Given the description of an element on the screen output the (x, y) to click on. 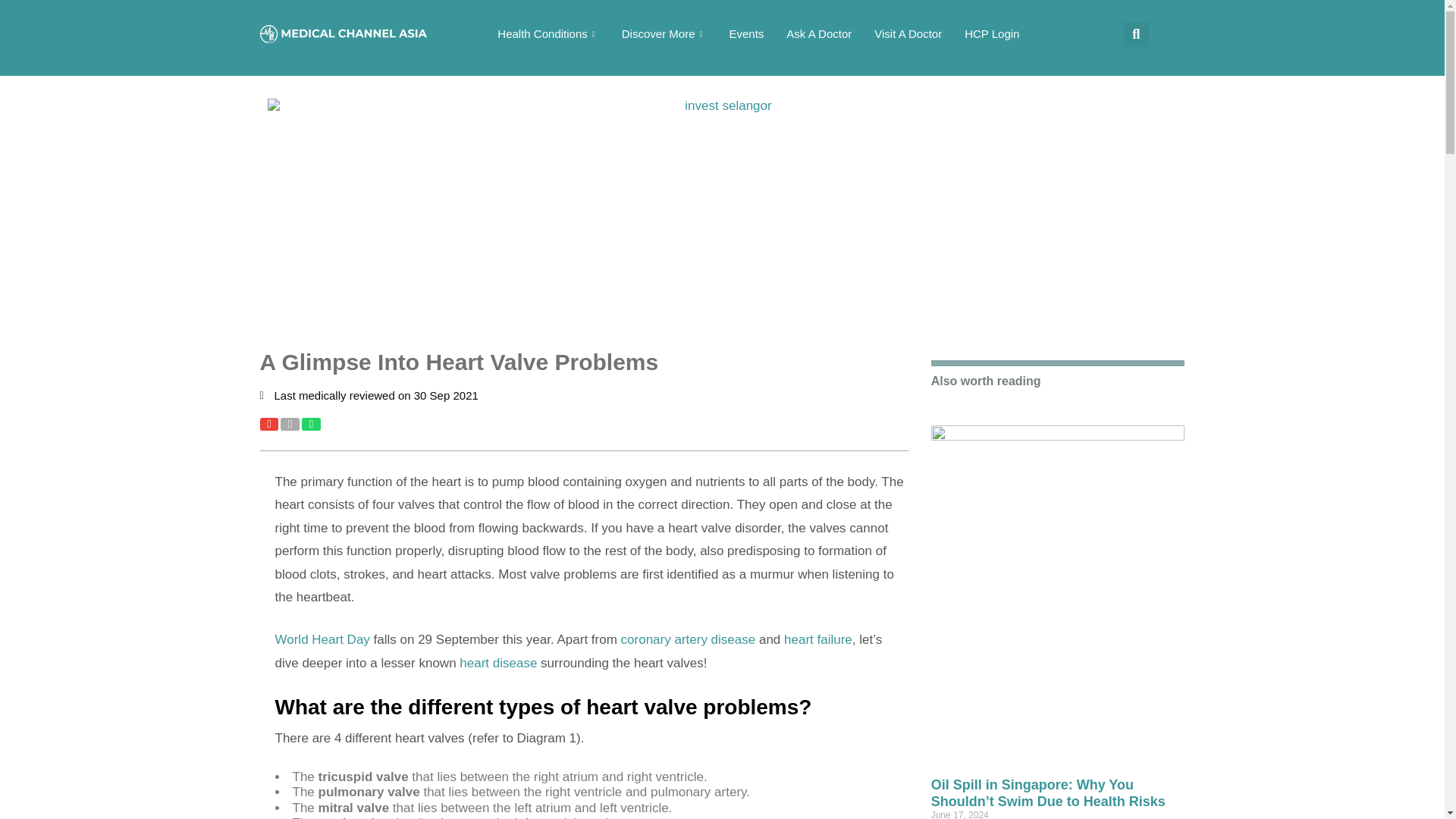
Visit A Doctor (908, 33)
HCP Login (991, 33)
Health Conditions (548, 33)
Discover More (663, 33)
Events (745, 33)
Ask A Doctor (818, 33)
